Given the description of an element on the screen output the (x, y) to click on. 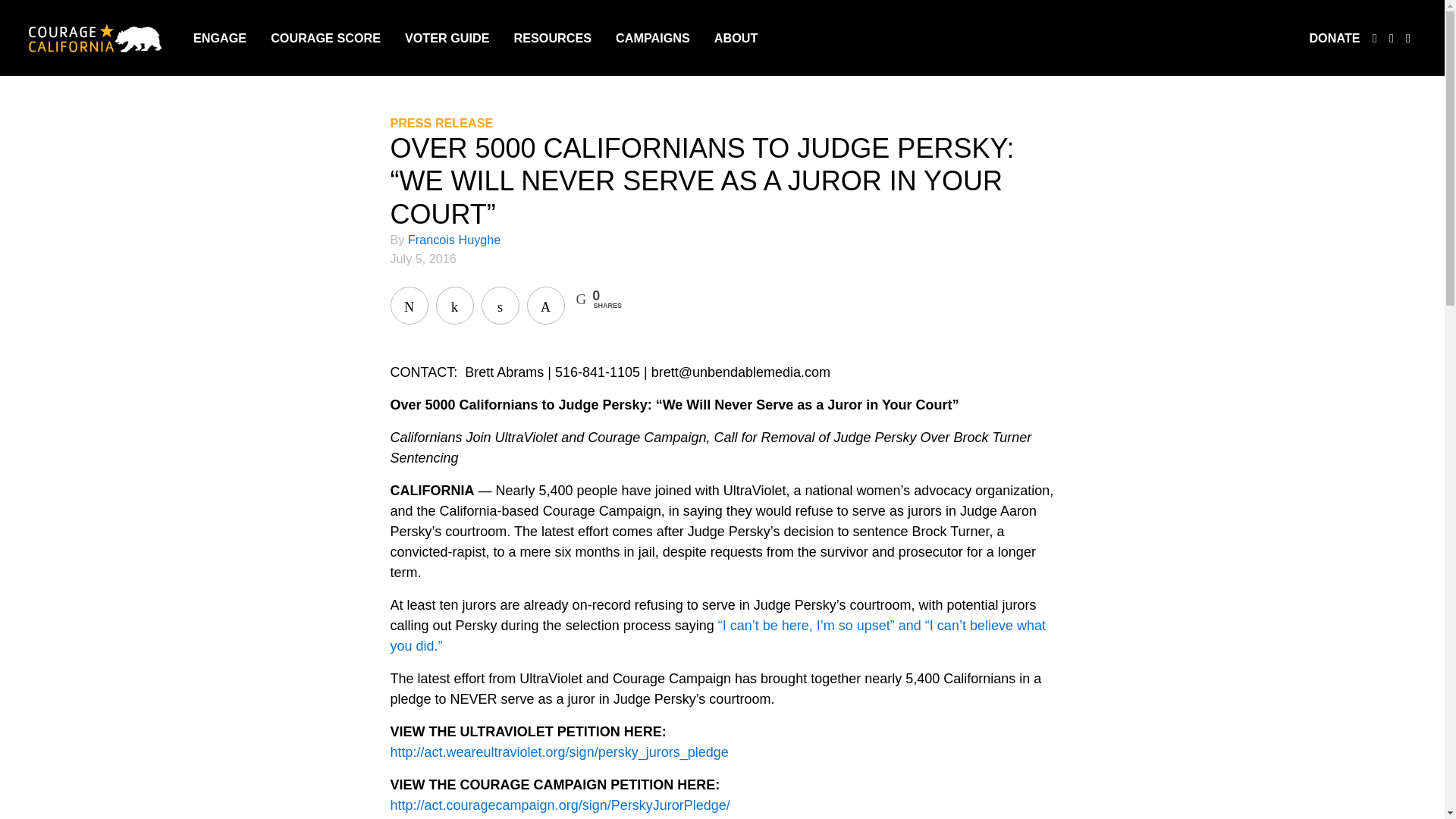
ENGAGE (219, 37)
RESOURCES (552, 37)
VOTER GUIDE (446, 37)
ABOUT (736, 37)
DONATE (1333, 37)
PRESS RELEASE (441, 122)
CAMPAIGNS (652, 37)
Francois Huyghe (453, 239)
COURAGE SCORE (325, 37)
